Given the description of an element on the screen output the (x, y) to click on. 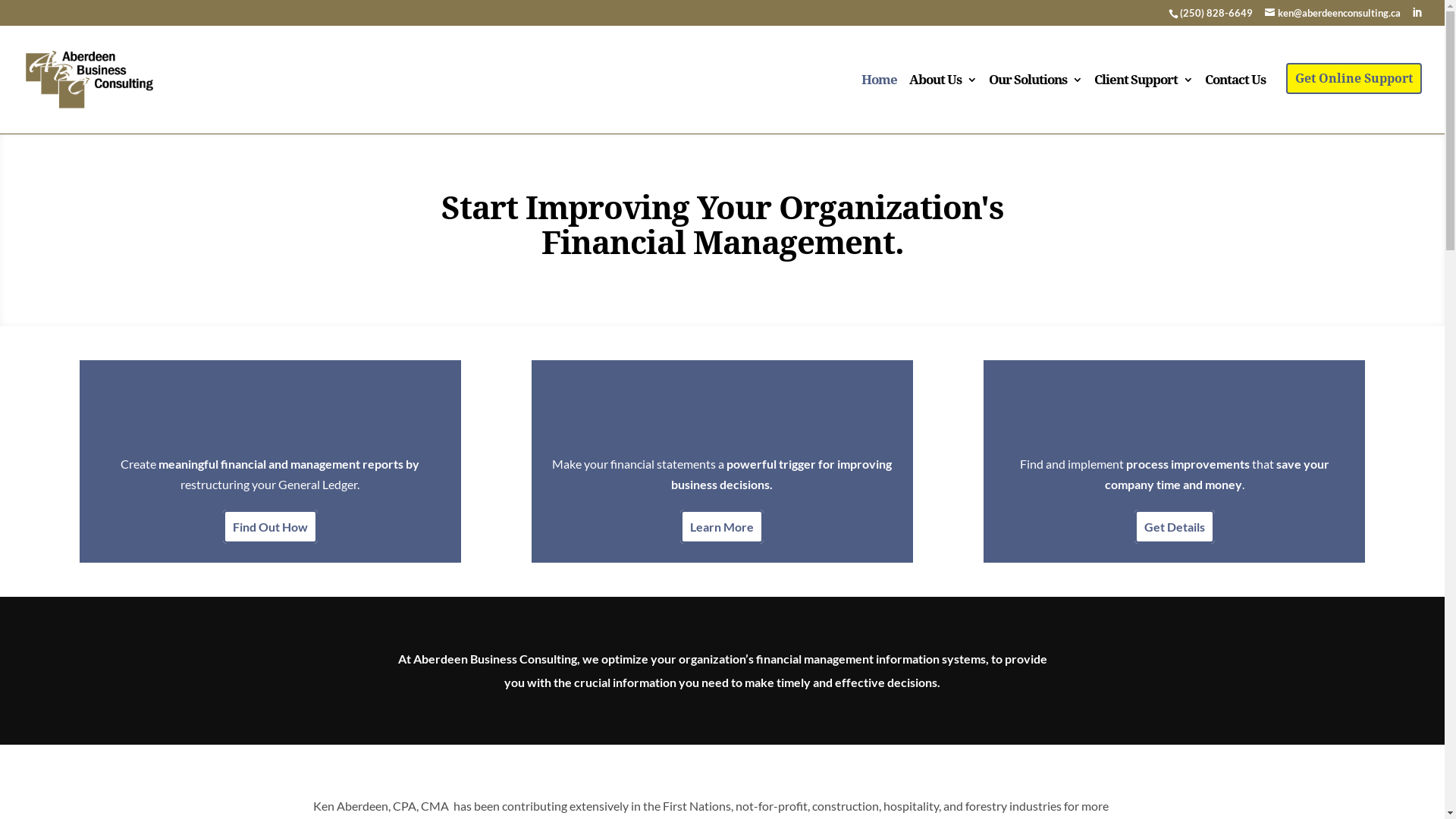
Client Support Element type: text (1143, 103)
Home Element type: text (879, 103)
Our Solutions Element type: text (1035, 103)
ken@aberdeenconsulting.ca Element type: text (1332, 12)
Get Details Element type: text (1174, 526)
Learn More Element type: text (721, 526)
Get Online Support Element type: text (1353, 78)
Contact Us Element type: text (1234, 103)
About Us Element type: text (942, 103)
Find Out How Element type: text (269, 526)
